Given the description of an element on the screen output the (x, y) to click on. 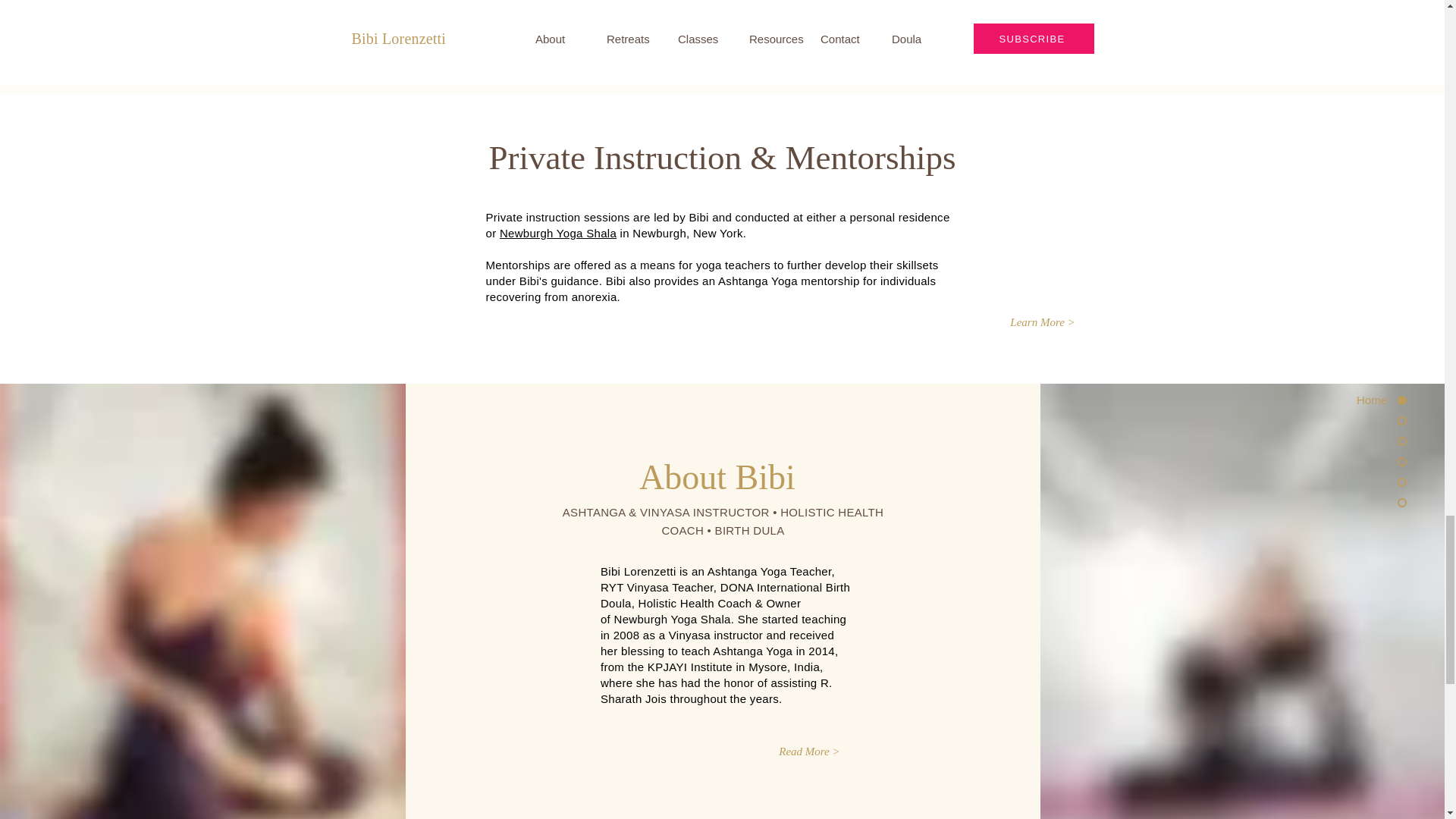
Newburgh Yoga Shala. S (679, 618)
Newburgh Yoga Shala (557, 232)
